Given the description of an element on the screen output the (x, y) to click on. 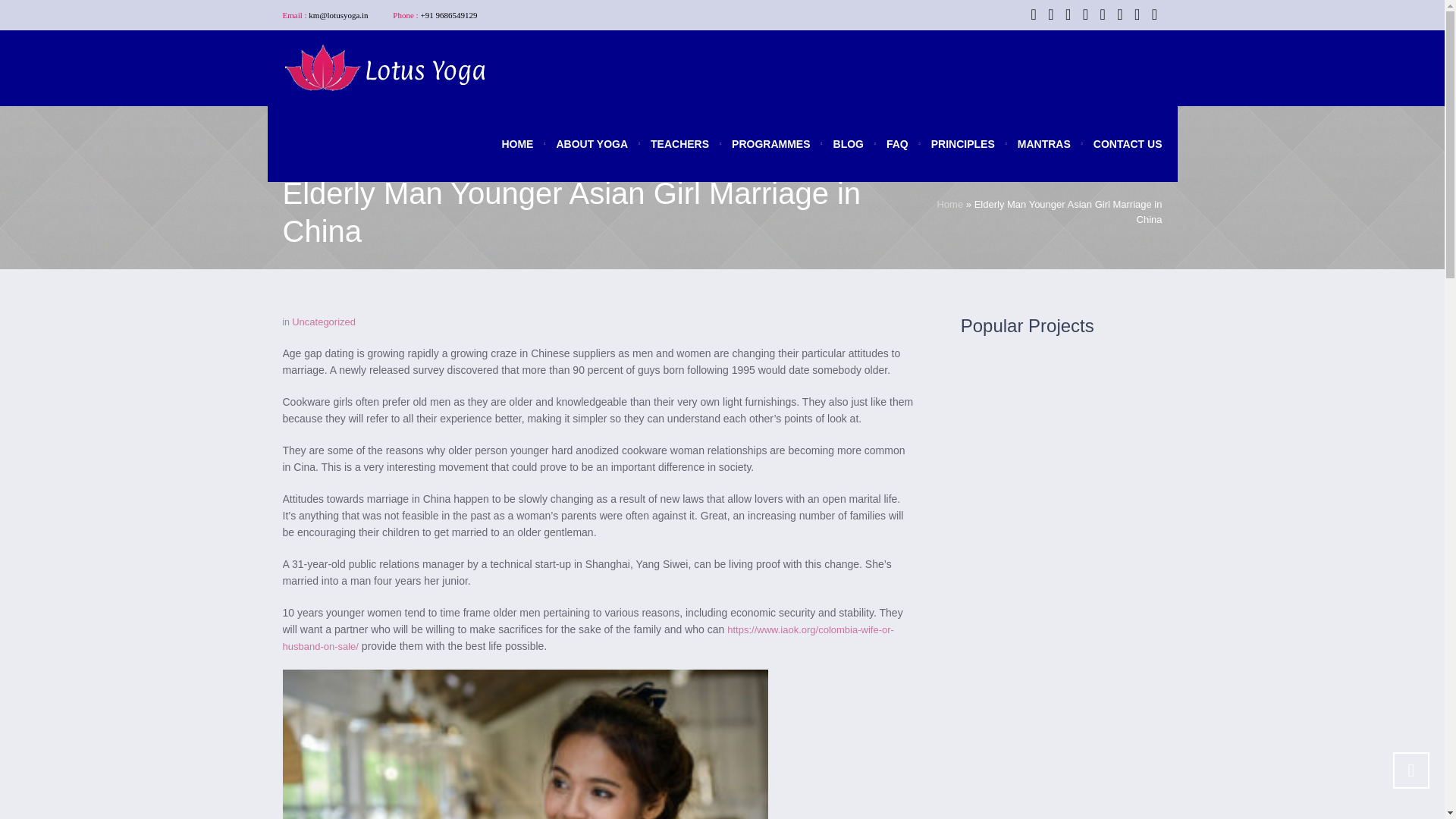
Facebook (1033, 13)
FAQ (897, 144)
PROGRAMMES (770, 144)
Twitter (1050, 13)
PRINCIPLES (963, 144)
CONTACT US (1121, 144)
Uncategorized (323, 321)
Home (949, 204)
HOME (516, 144)
MANTRAS (1043, 144)
ABOUT YOGA (591, 144)
BLOG (848, 144)
TEACHERS (679, 144)
